Given the description of an element on the screen output the (x, y) to click on. 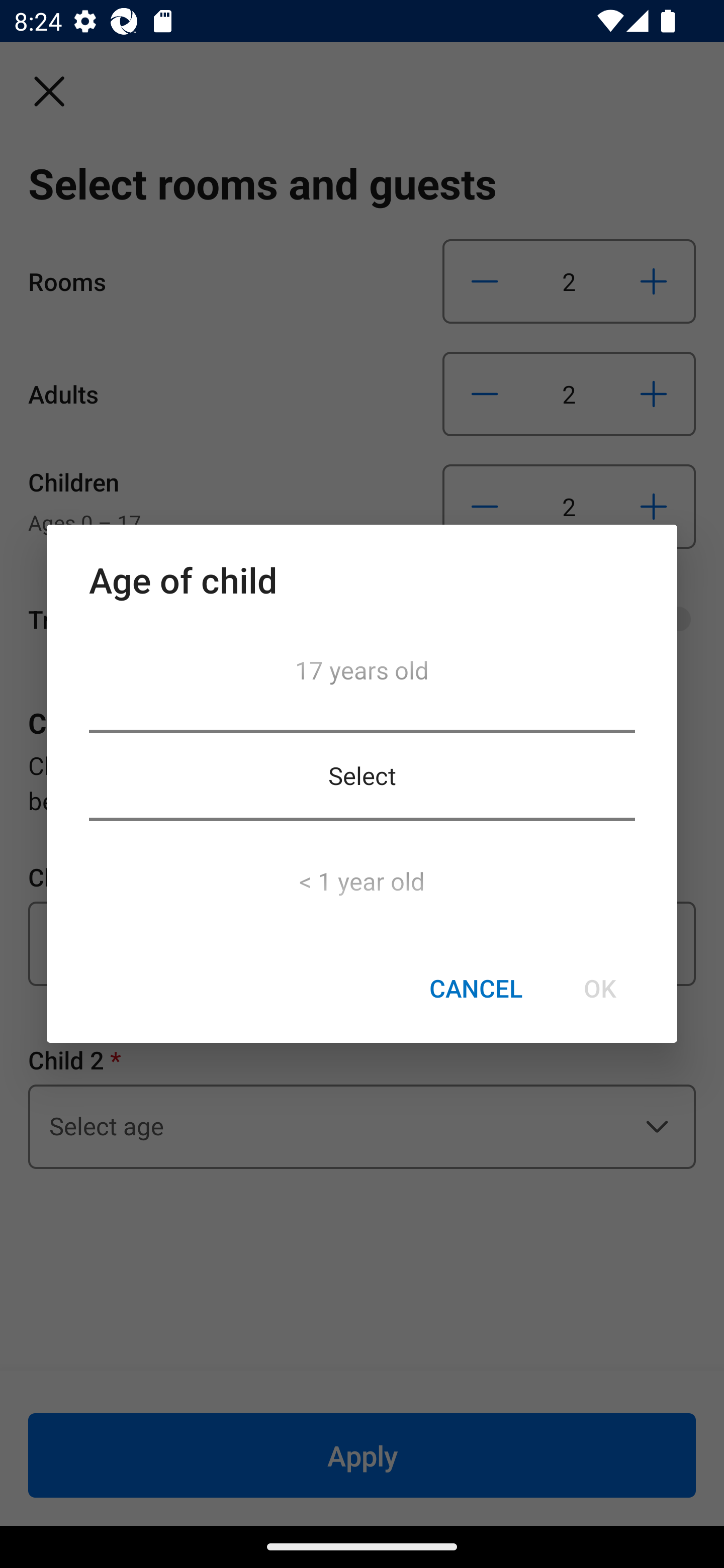
17 years old (361, 675)
Select (361, 774)
< 1 year old (361, 875)
CANCEL (475, 988)
OK (599, 988)
